Given the description of an element on the screen output the (x, y) to click on. 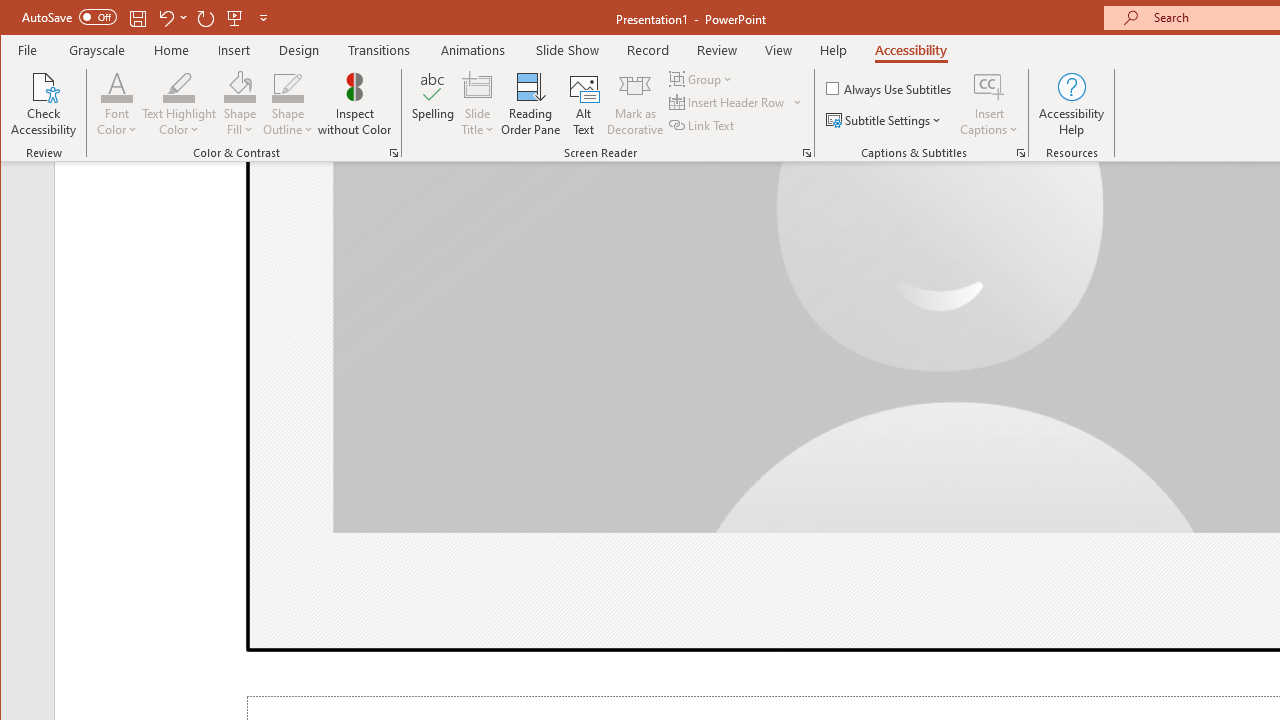
Accessibility (910, 50)
Shape Fill Orange, Accent 2 (239, 86)
Captions & Subtitles (1020, 152)
Always Use Subtitles (890, 88)
Spelling... (432, 104)
Insert Header Row (728, 101)
Insert Header Row (735, 101)
